Given the description of an element on the screen output the (x, y) to click on. 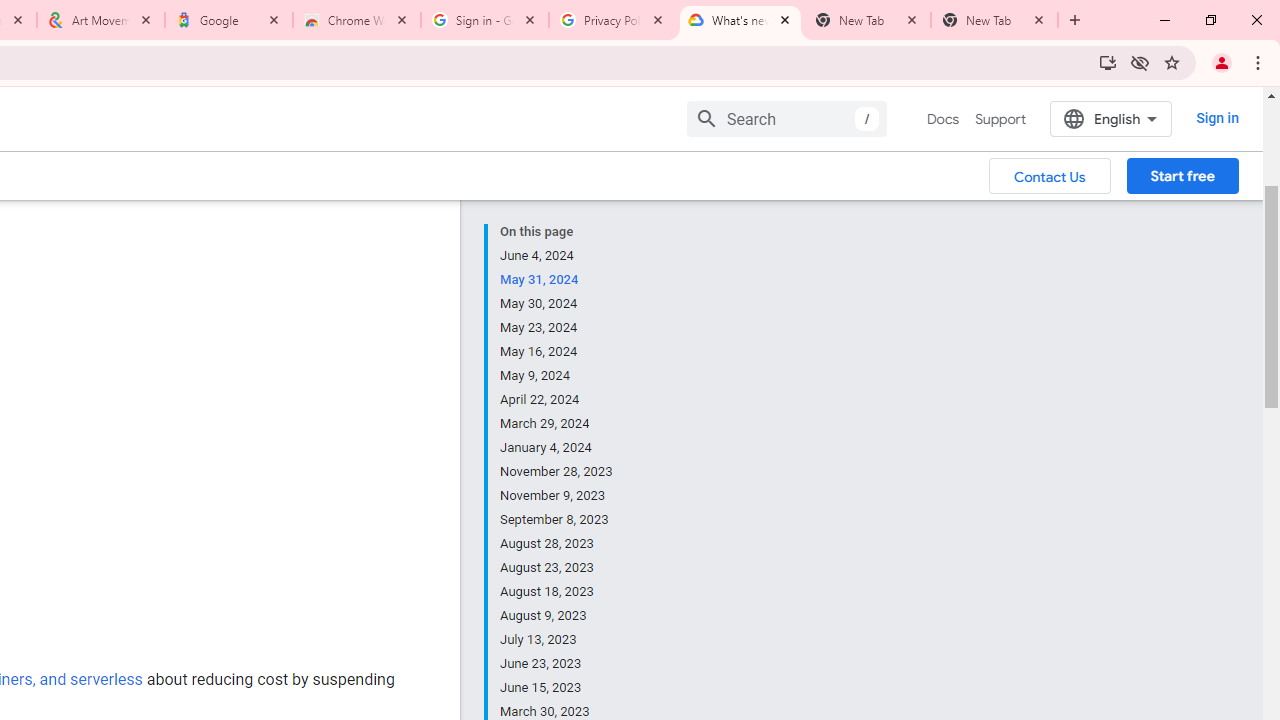
August 9, 2023 (557, 615)
May 23, 2024 (557, 327)
Install Google Cloud (1107, 62)
November 9, 2023 (557, 495)
Google (229, 20)
July 13, 2023 (557, 639)
May 30, 2024 (557, 304)
Chrome Web Store - Color themes by Chrome (357, 20)
Start free (1182, 175)
August 28, 2023 (557, 543)
